Given the description of an element on the screen output the (x, y) to click on. 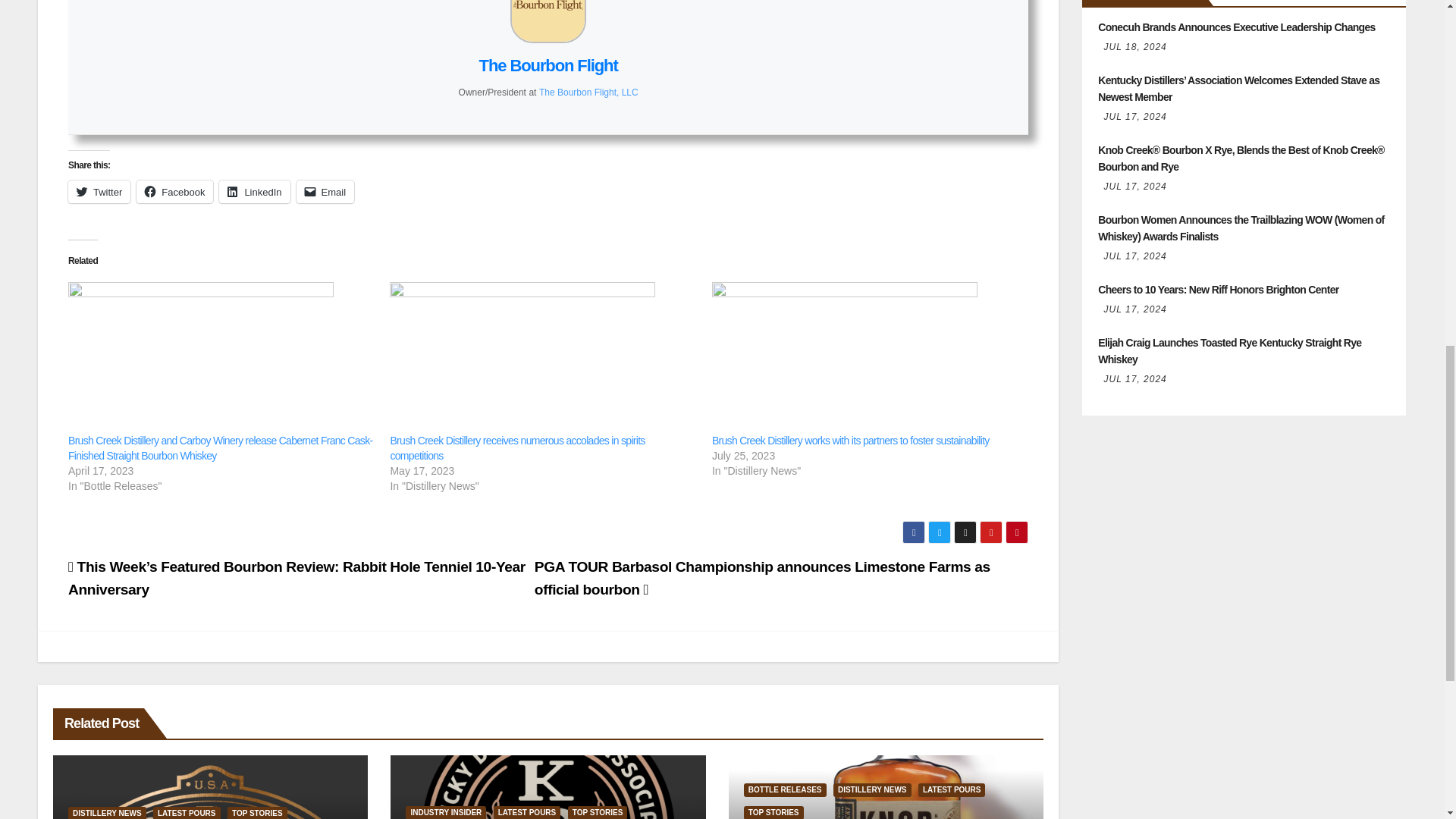
The Bourbon Flight (548, 65)
